Given the description of an element on the screen output the (x, y) to click on. 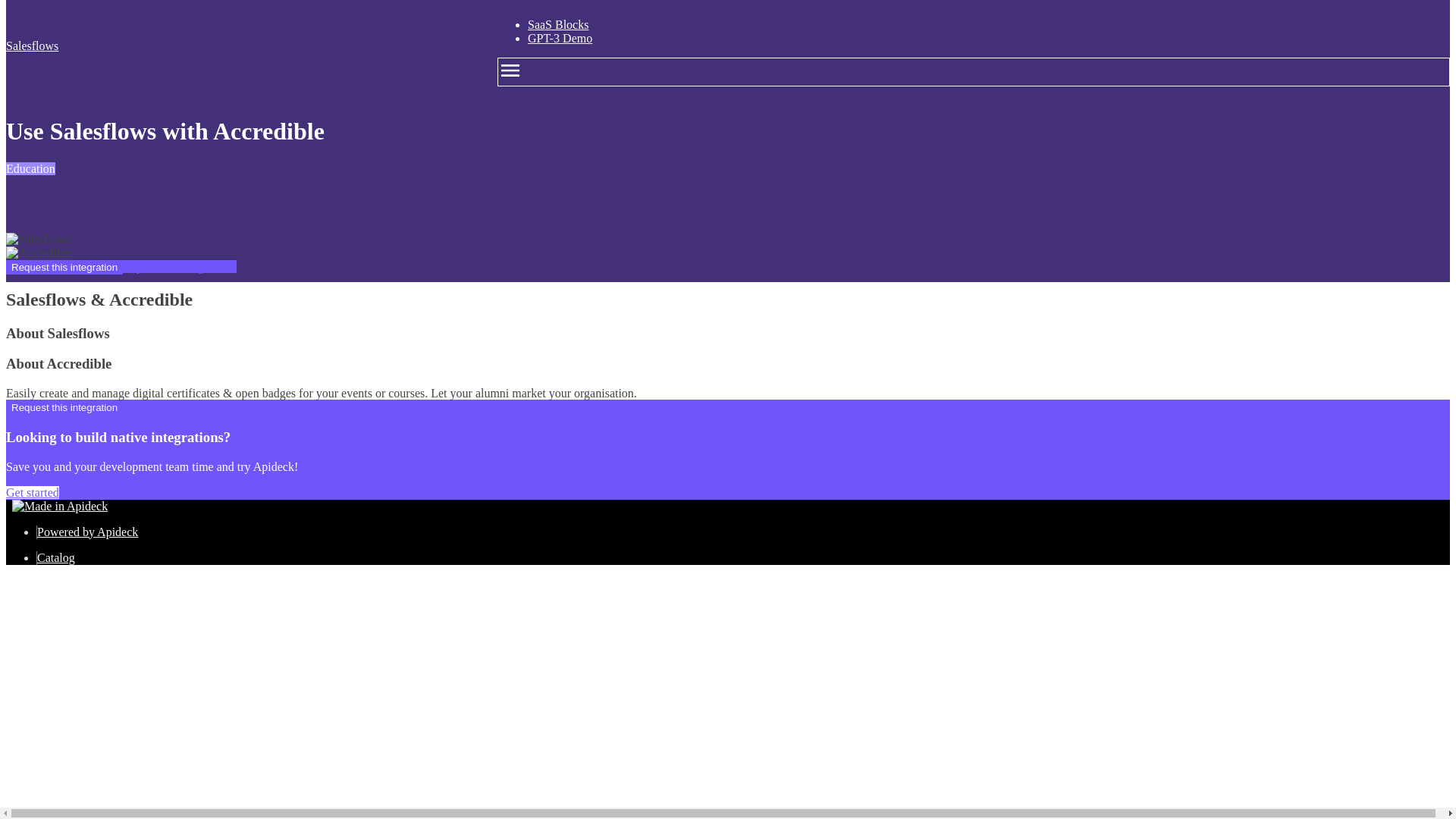
Accredible (38, 253)
Explore all integrations (178, 266)
Explore all integrations (178, 406)
GPT-3 Demo (559, 38)
Request this integration (63, 407)
Request this integration (63, 267)
Salesflows (236, 46)
Get started (32, 492)
SaaS Blocks (557, 24)
Salesflows (37, 239)
Powered by Apideck (87, 531)
Catalog (56, 557)
